Given the description of an element on the screen output the (x, y) to click on. 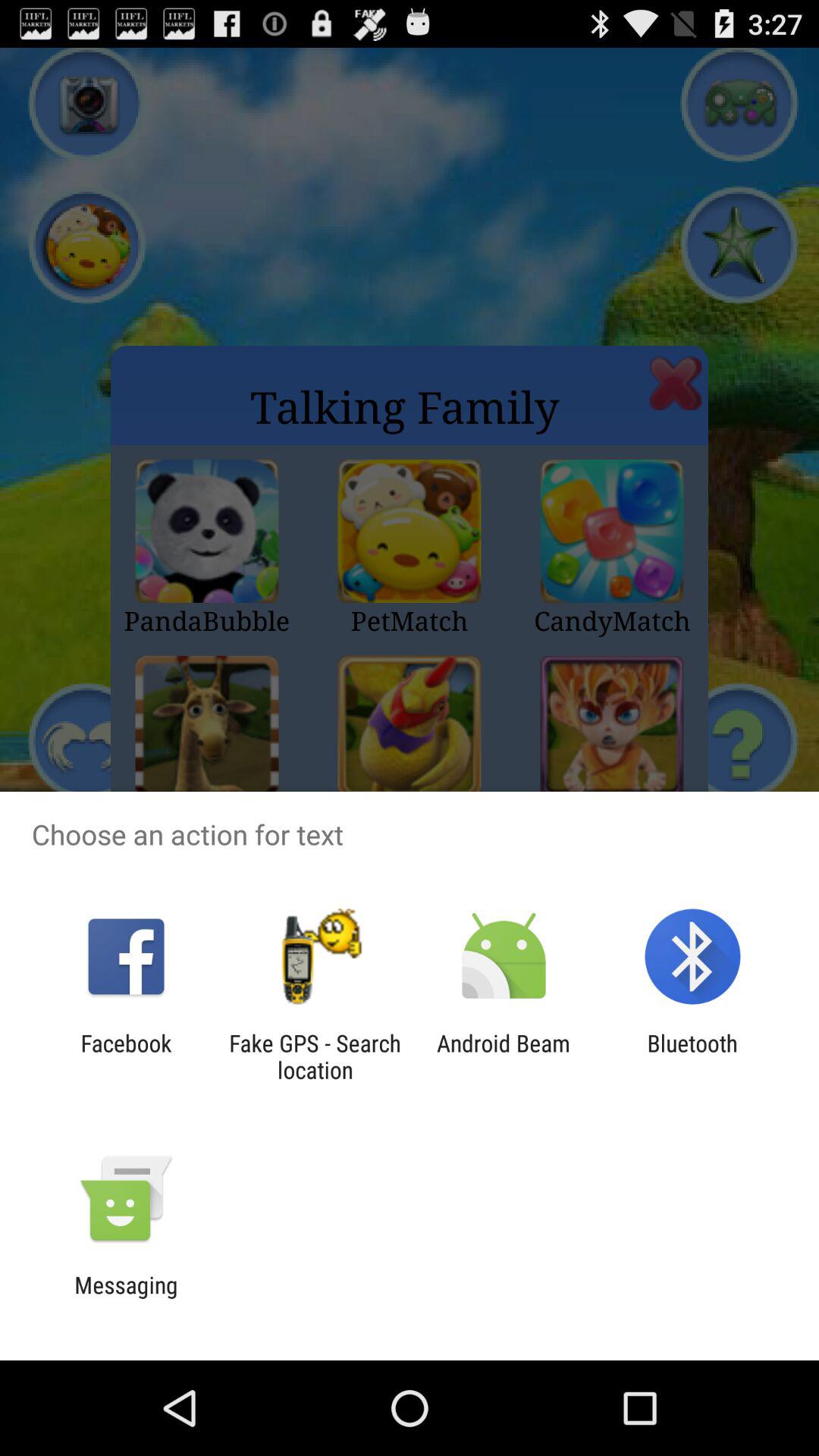
click the app to the left of android beam app (314, 1056)
